Given the description of an element on the screen output the (x, y) to click on. 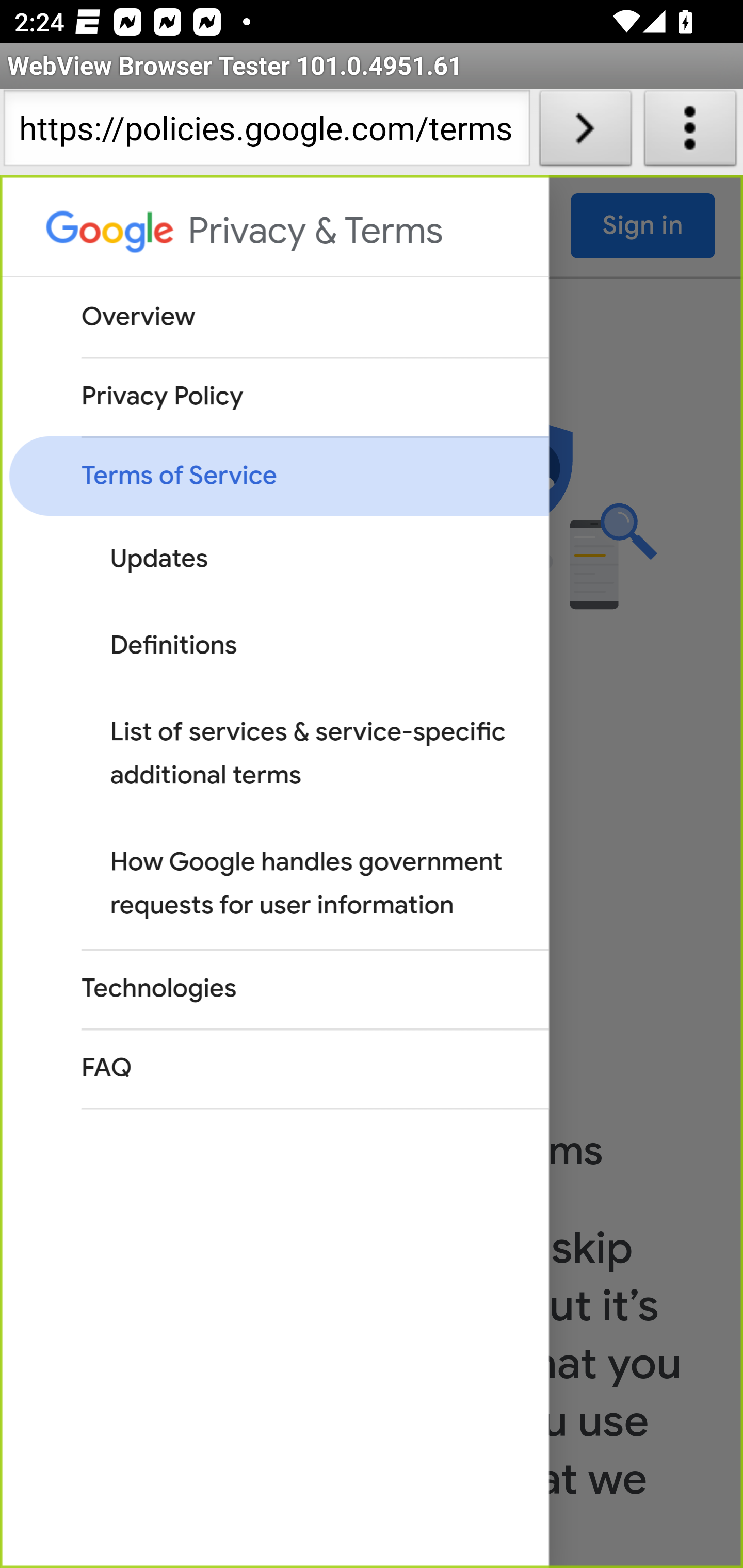
Load URL (585, 132)
About WebView (690, 132)
Google Google Google (111, 237)
Overview (278, 316)
Privacy Policy (278, 396)
Terms of Service (278, 475)
Updates (292, 558)
Definitions (292, 645)
Technologies (278, 988)
FAQ (278, 1067)
